Given the description of an element on the screen output the (x, y) to click on. 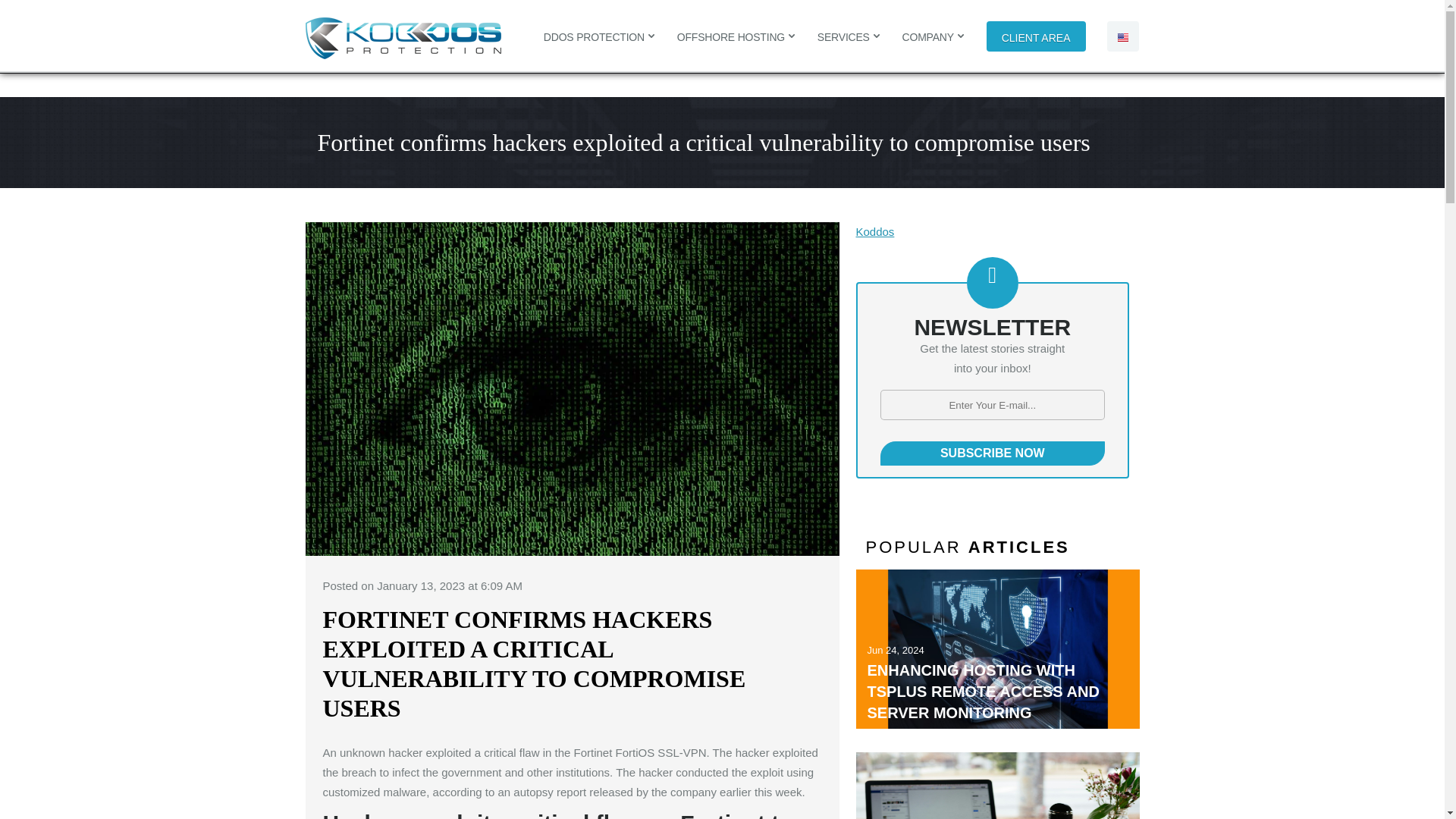
CLIENT AREA (1036, 36)
Subscribe Now (992, 453)
